Given the description of an element on the screen output the (x, y) to click on. 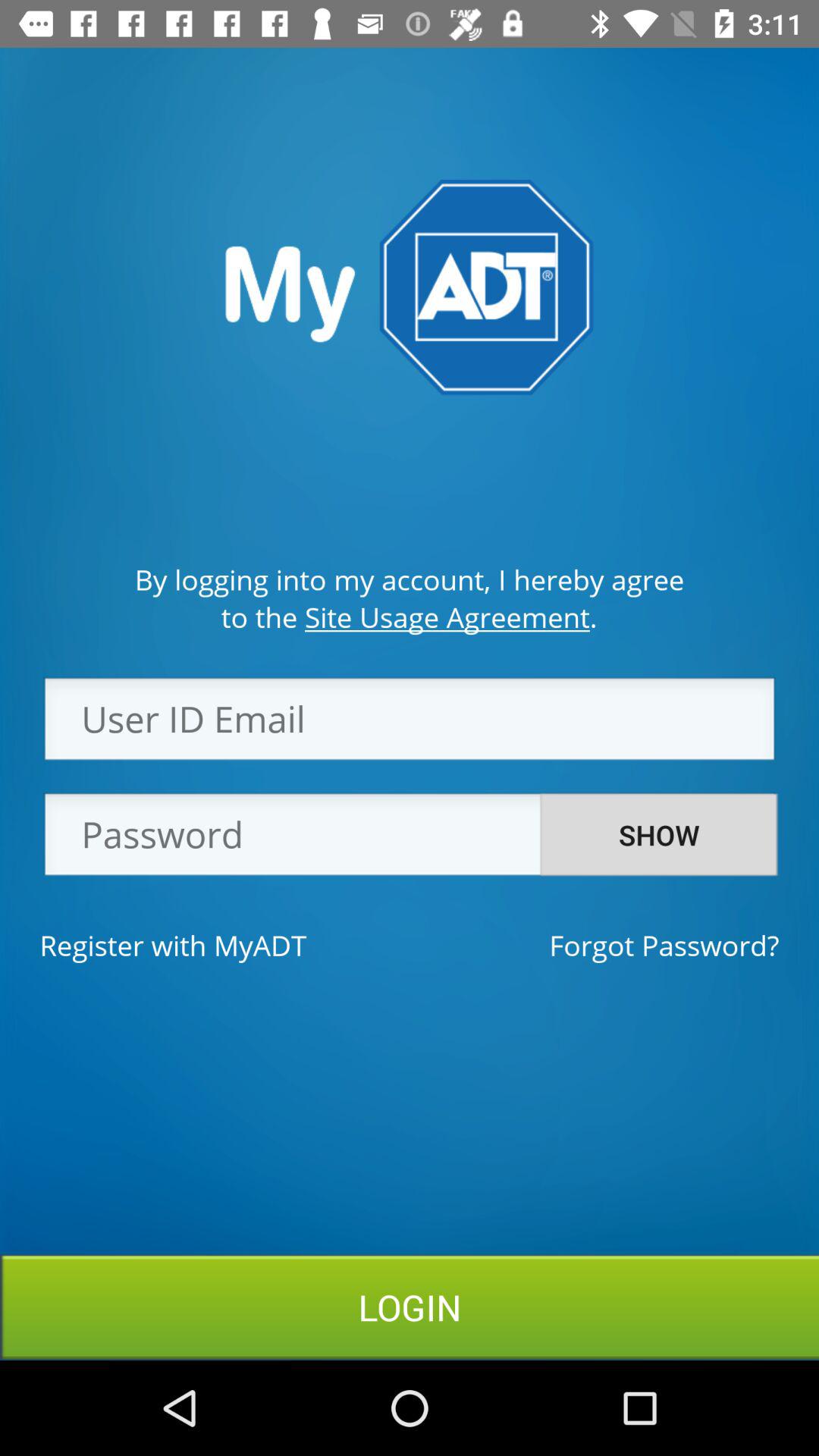
tap the item next to the forgot password? (172, 945)
